Given the description of an element on the screen output the (x, y) to click on. 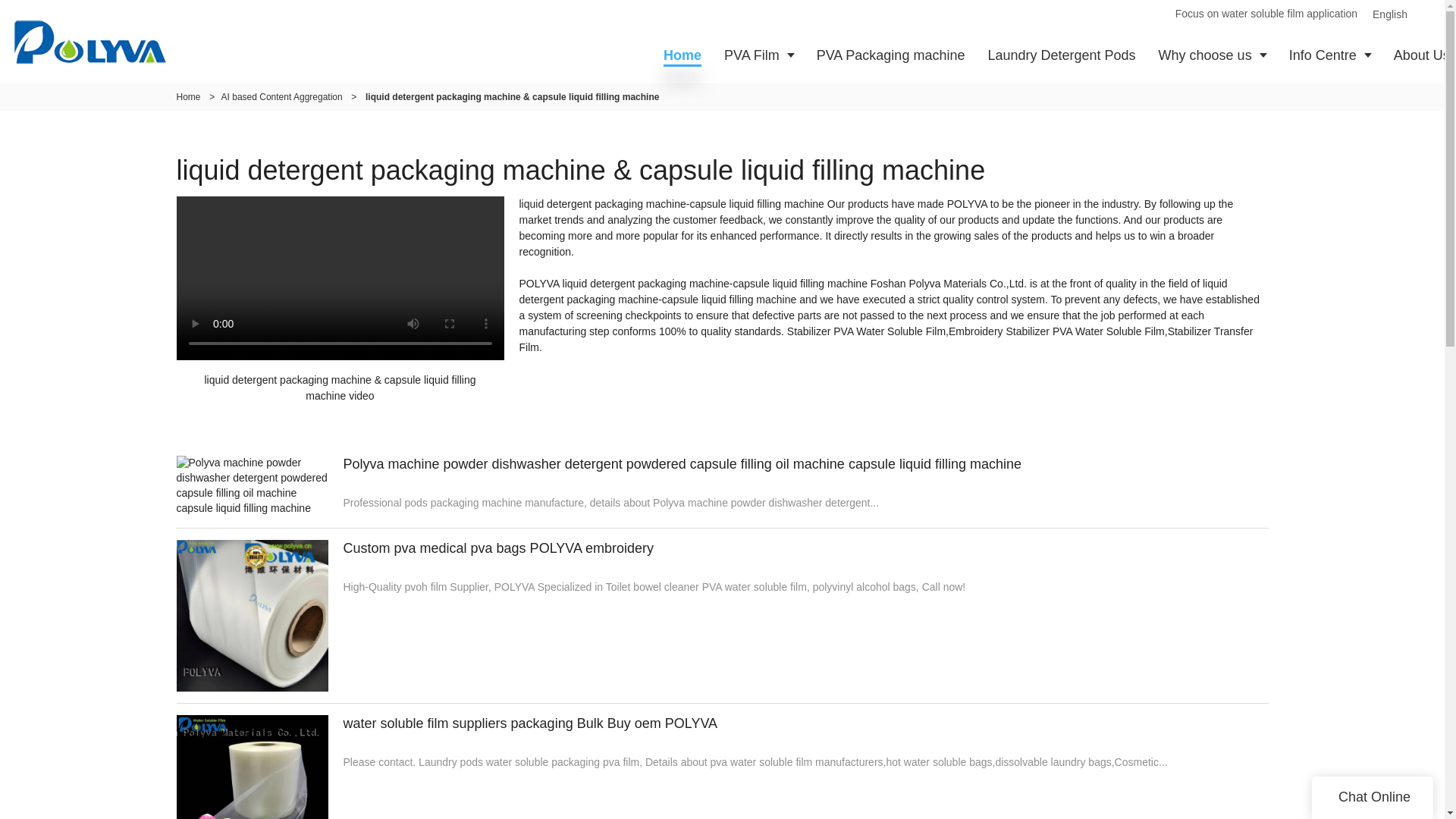
AI based Content Aggregation (281, 96)
Home (188, 96)
Info Centre (1329, 55)
About Us (1418, 55)
Home (682, 55)
Why choose us (1212, 55)
PVA Packaging machine (890, 55)
